Given the description of an element on the screen output the (x, y) to click on. 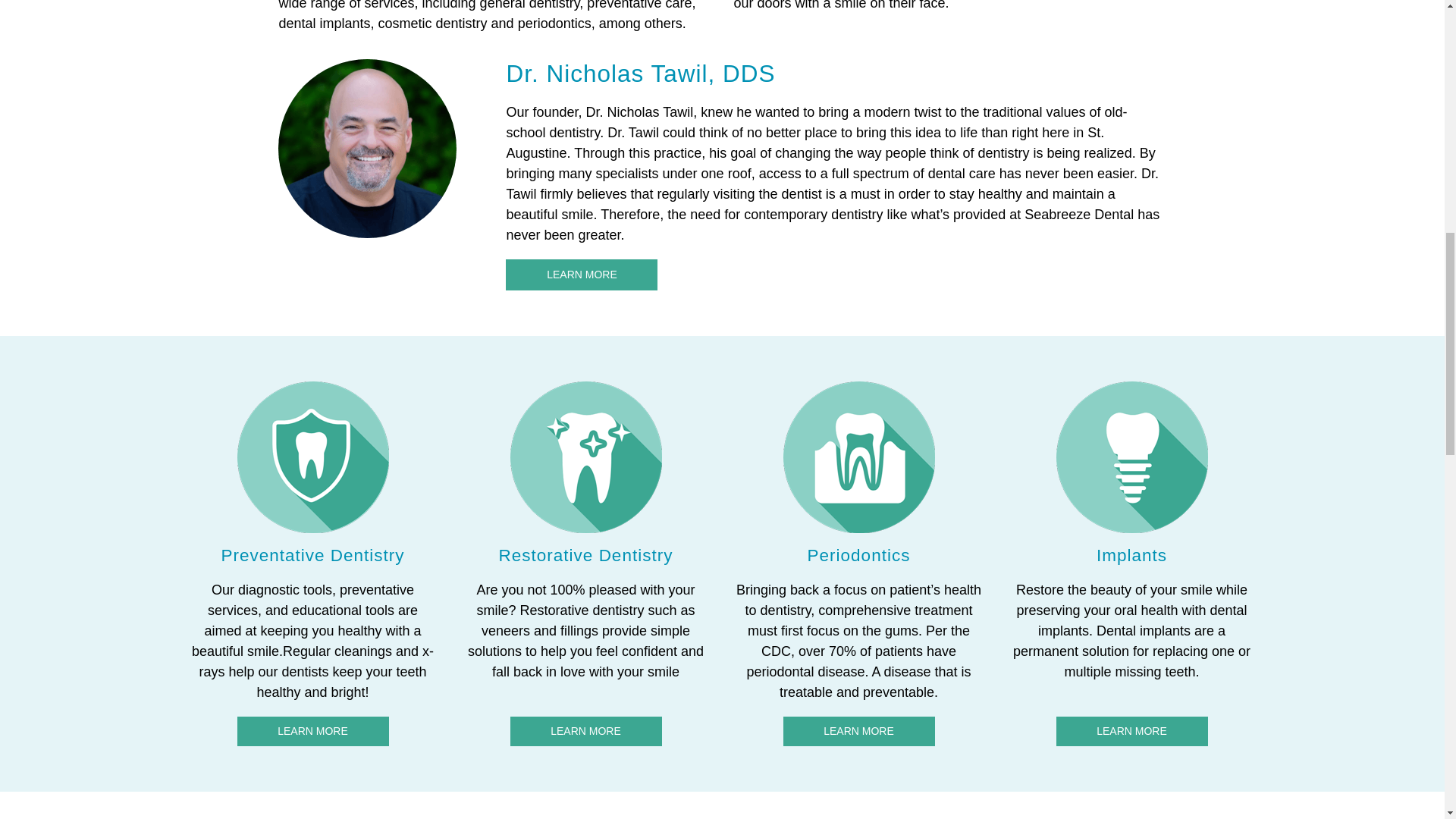
LEARN MORE (585, 731)
LEARN MORE (1131, 731)
LEARN MORE (581, 274)
LEARN MORE (858, 731)
LEARN MORE (311, 731)
